Given the description of an element on the screen output the (x, y) to click on. 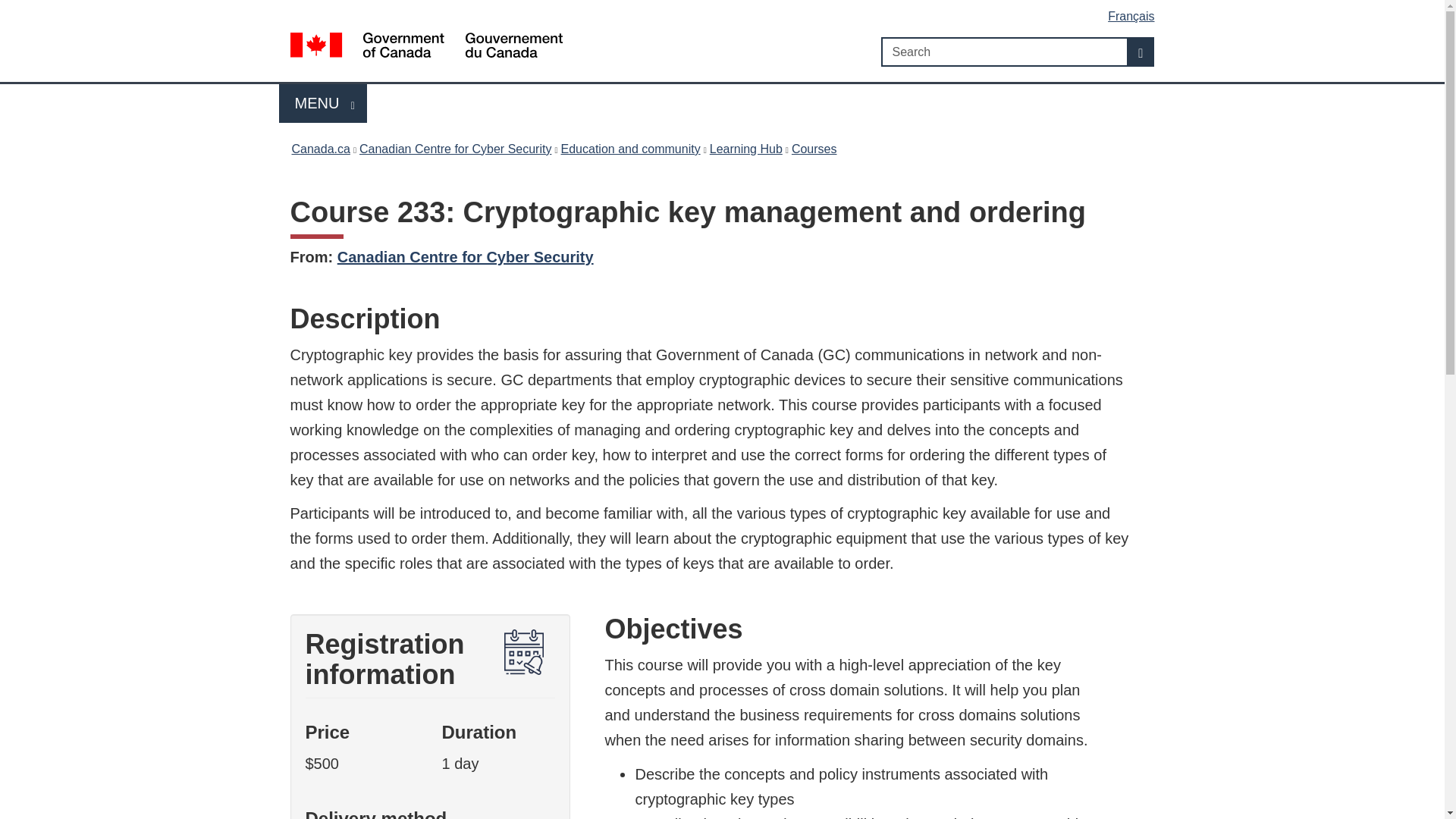
Canadian Centre for Cyber Security (465, 256)
Skip to main content (725, 11)
Canadian Centre for Cyber Security (455, 148)
Canada.ca (322, 103)
Courses (320, 148)
Learning Hub (814, 148)
Search (746, 148)
Education and community (1140, 50)
